Given the description of an element on the screen output the (x, y) to click on. 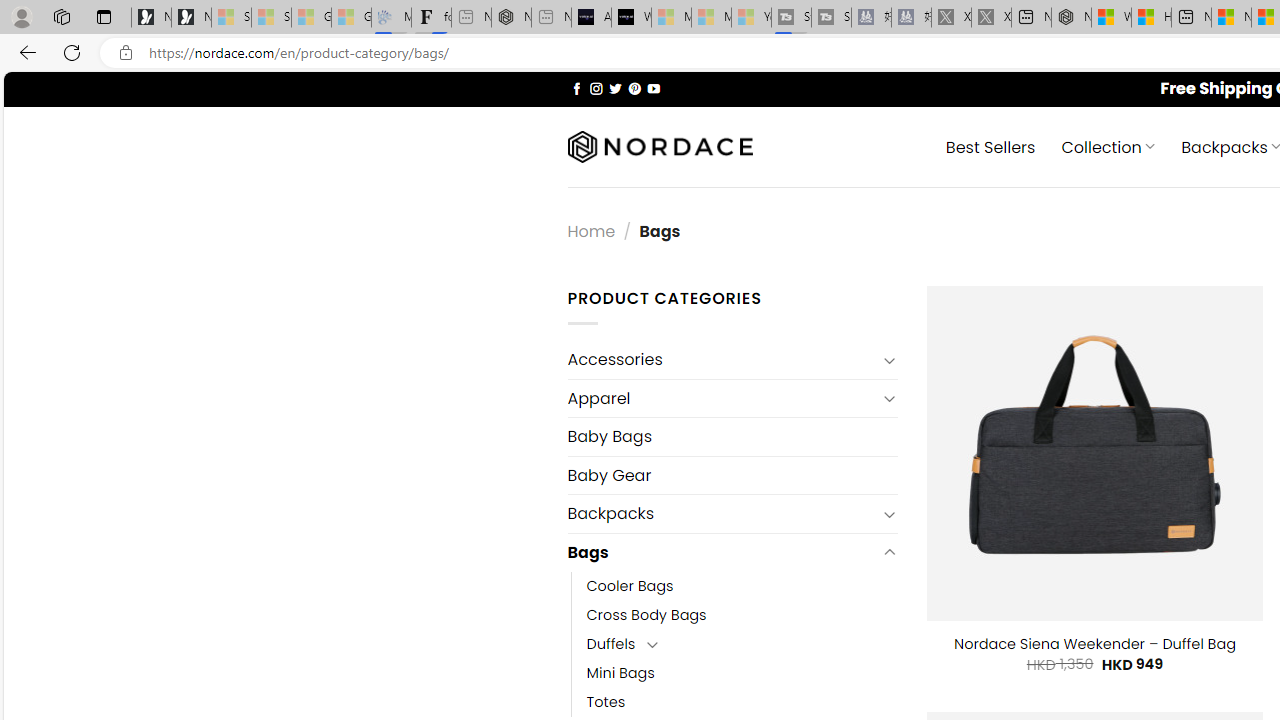
Cooler Bags (742, 585)
Follow on Pinterest (634, 88)
Mini Bags (742, 673)
Follow on Facebook (576, 88)
Cross Body Bags (646, 614)
Huge shark washes ashore at New York City beach | Watch (1151, 17)
View site information (125, 53)
Streaming Coverage | T3 - Sleeping (791, 17)
Cross Body Bags (742, 614)
Nordace - #1 Japanese Best-Seller - Siena Smart Backpack (511, 17)
